Given the description of an element on the screen output the (x, y) to click on. 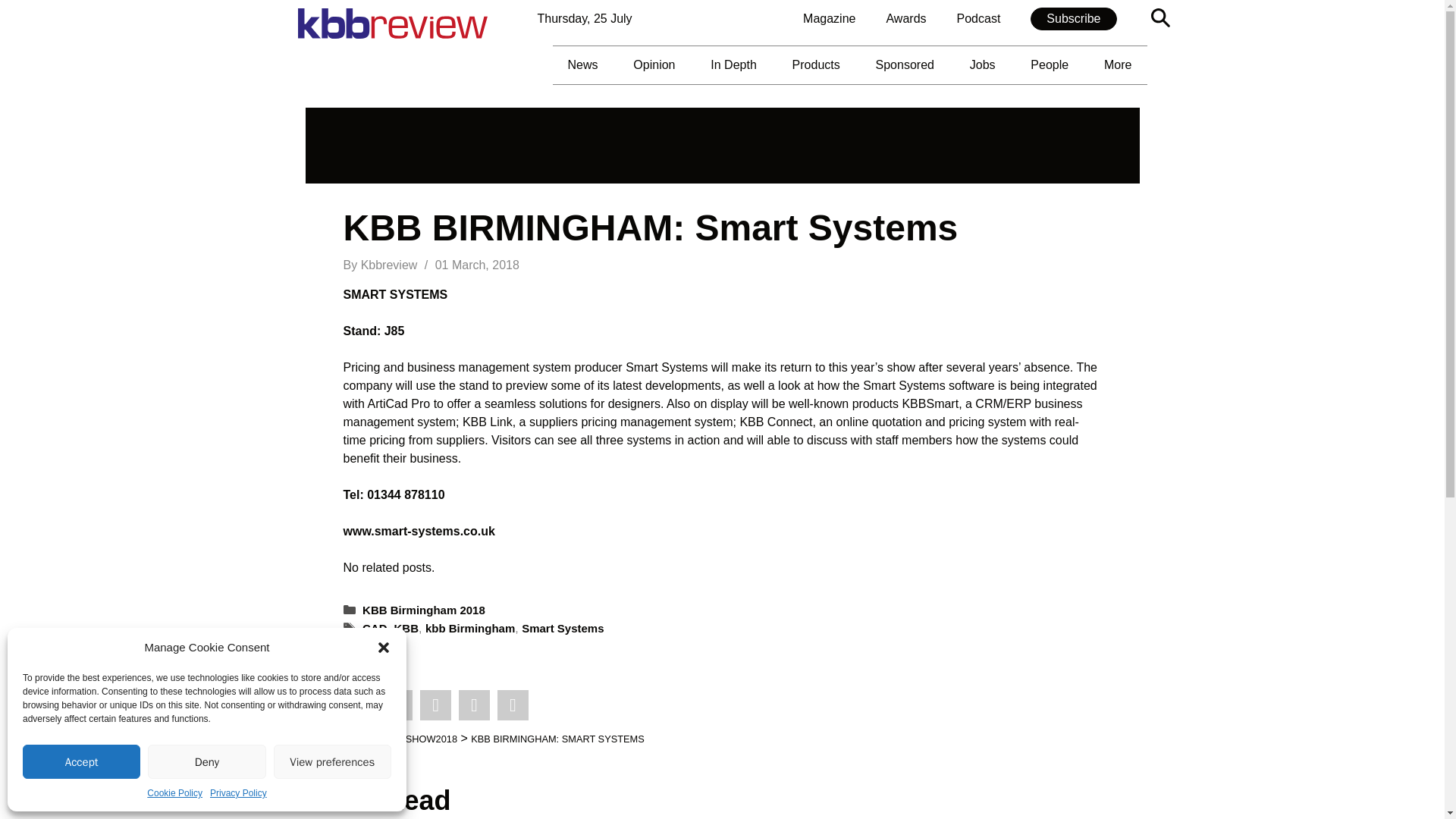
Print (473, 705)
Mail (512, 705)
In Depth (733, 64)
Awards (905, 18)
Podcast (979, 18)
Products (816, 64)
Linkedin (435, 705)
Jobs (982, 64)
News (581, 64)
Facebook (396, 705)
Deny (206, 761)
Subscribe (1073, 18)
Accept (81, 761)
Privacy Policy (237, 793)
Cookie Policy (174, 793)
